Given the description of an element on the screen output the (x, y) to click on. 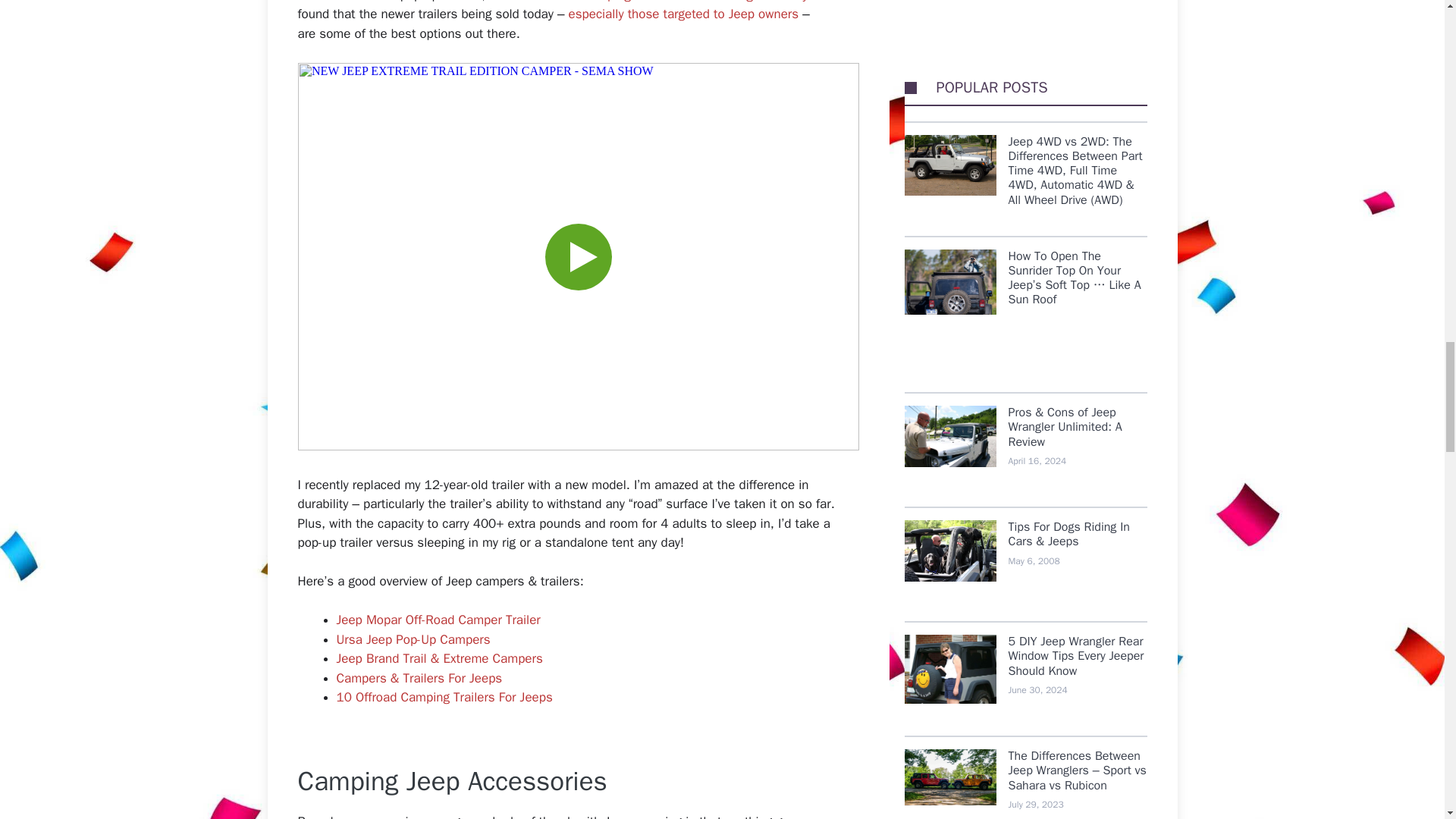
Jeep Mopar Off-Road Camper Trailer (438, 619)
especially those targeted to Jeep owners (684, 13)
Ursa Jeep Pop-Up Campers (413, 639)
camping trailers that are budget friendly (695, 1)
10 Offroad Camping Trailers For Jeeps (444, 697)
